Given the description of an element on the screen output the (x, y) to click on. 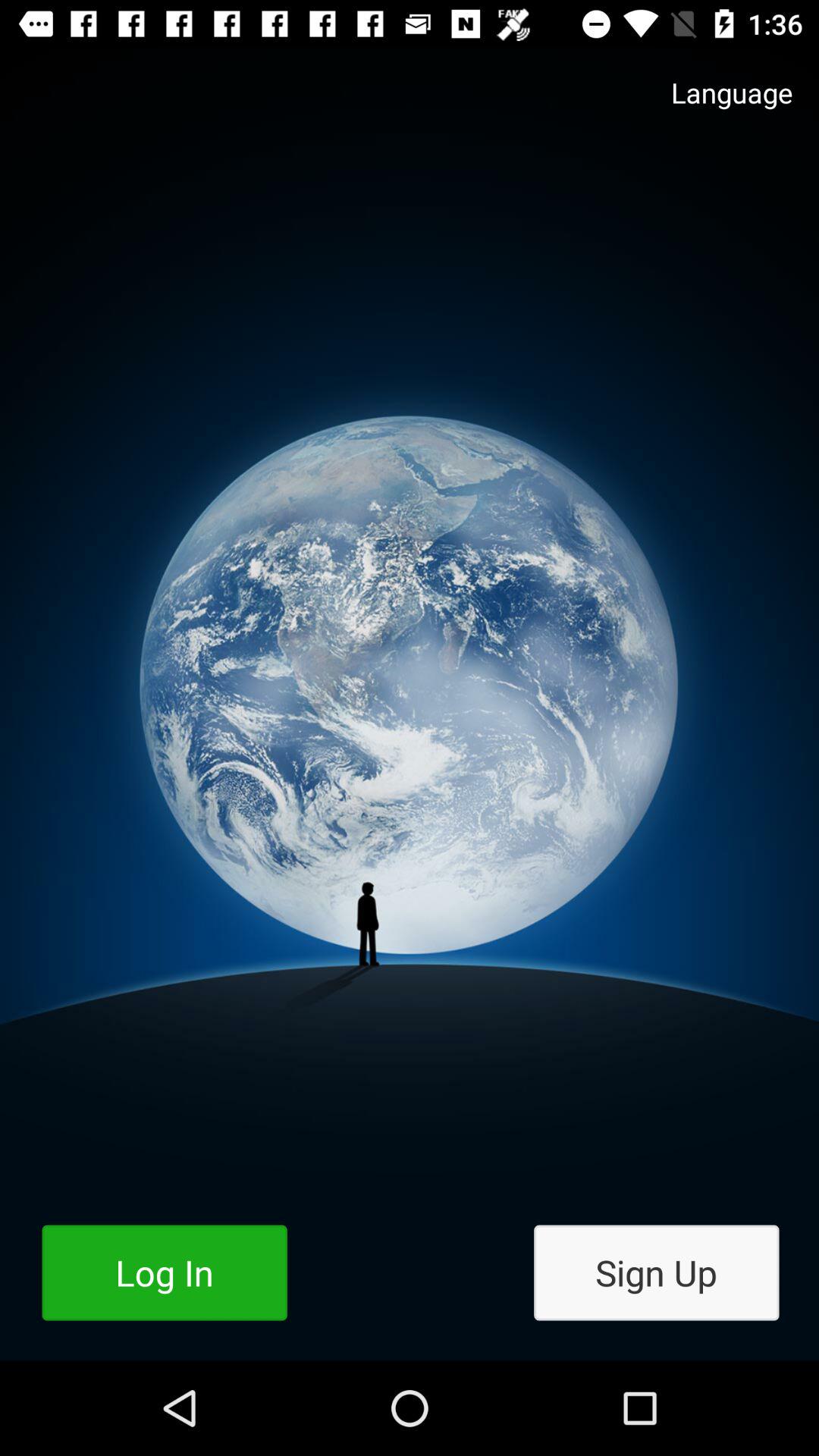
press log in at the bottom left corner (164, 1272)
